Given the description of an element on the screen output the (x, y) to click on. 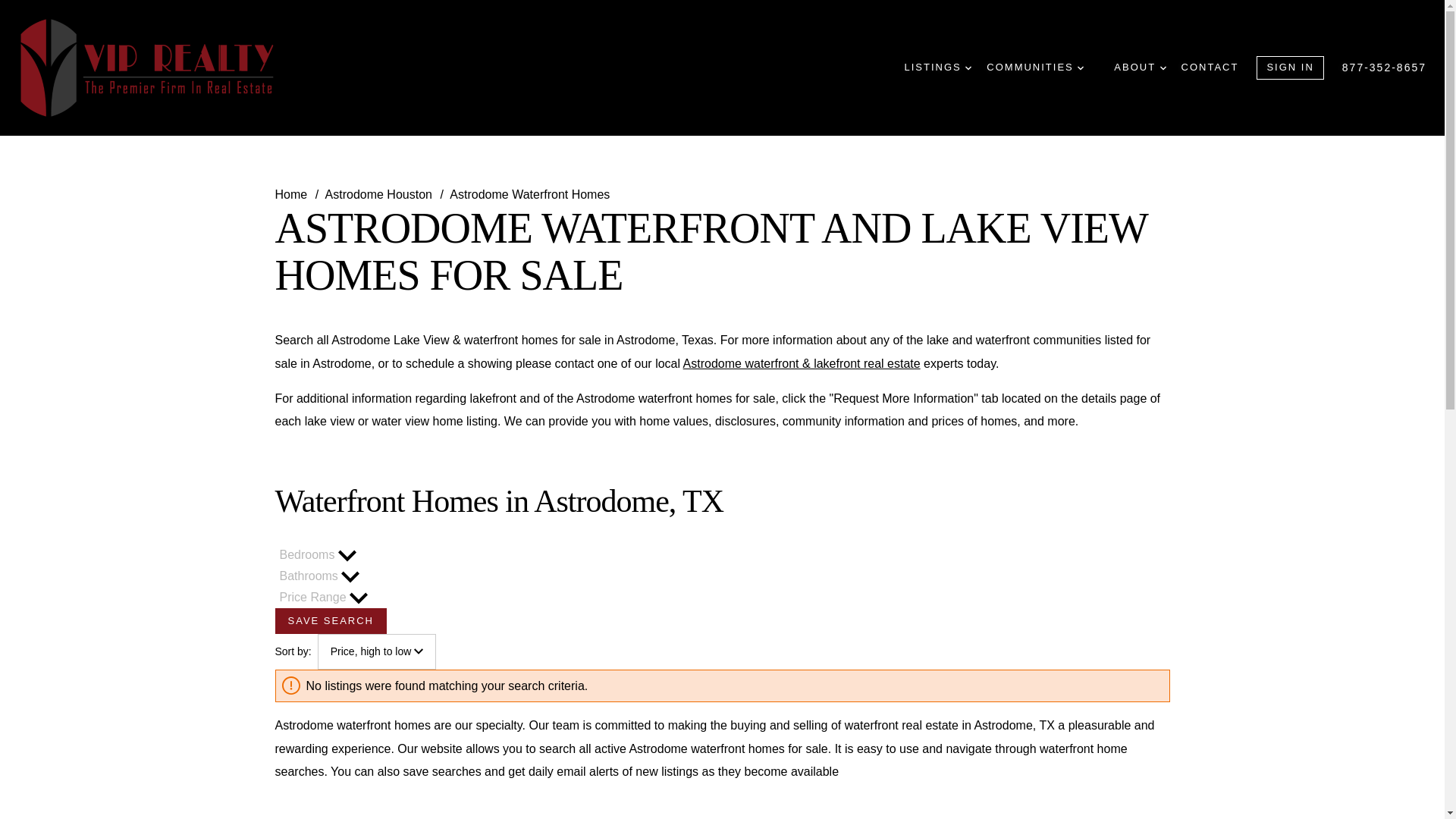
SIGN IN (1289, 67)
DROPDOWN ARROW (1080, 68)
COMMUNITIES DROPDOWN ARROW (1035, 67)
LISTINGS DROPDOWN ARROW (937, 67)
877-352-8657 (1384, 67)
CONTACT (1209, 67)
ABOUT (1163, 68)
ABOUT ABOUT (1139, 67)
DROPDOWN ARROW (968, 68)
